Given the description of an element on the screen output the (x, y) to click on. 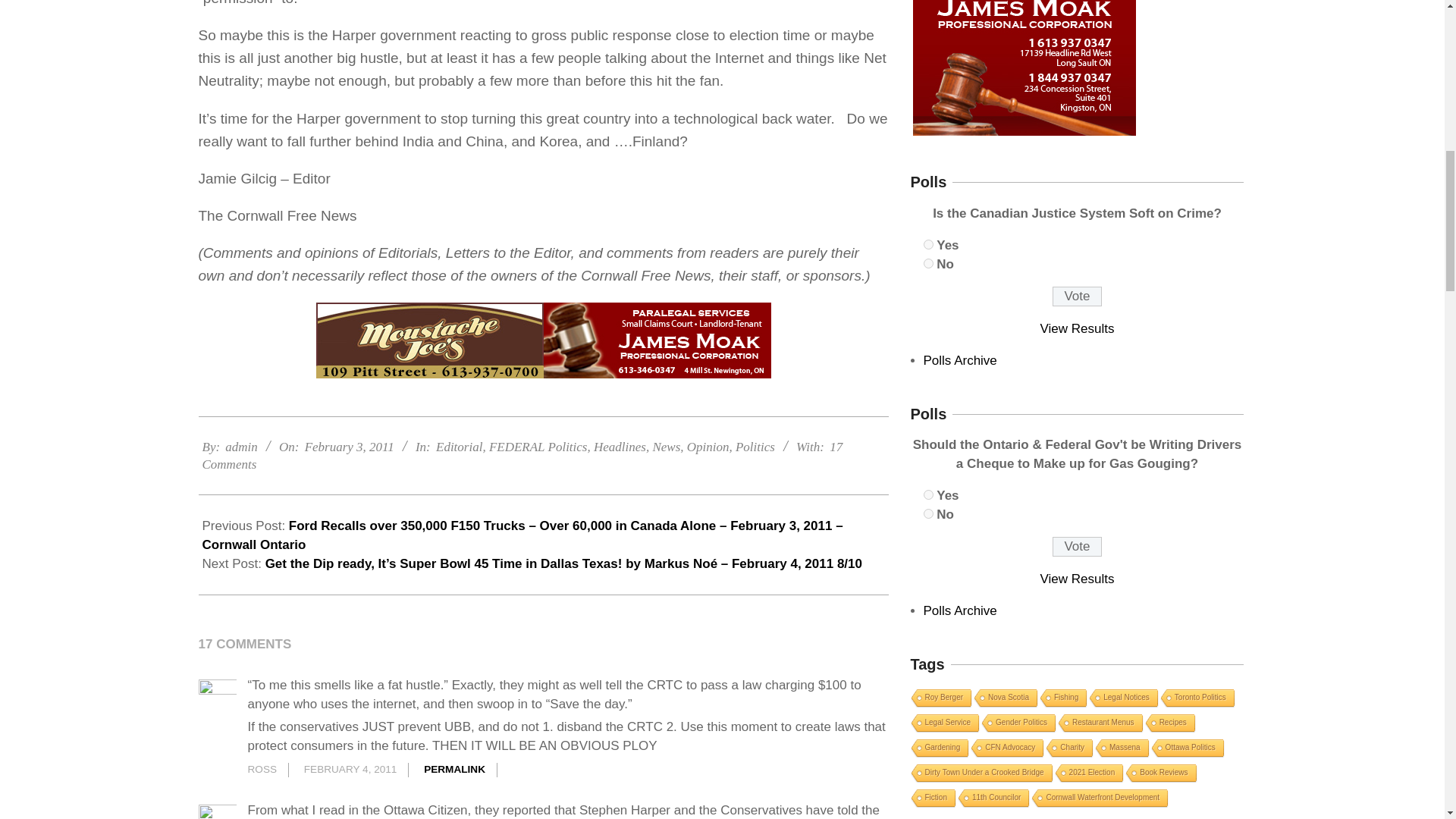
1762 (928, 494)
Thursday, February 3, 2011, 8:00 pm (349, 446)
   Vote    (1076, 546)
   Vote    (1076, 296)
1763 (928, 513)
1754 (928, 244)
Posts by admin (241, 446)
Friday, February 4, 2011, 1:57 am (350, 768)
1755 (928, 263)
